Given the description of an element on the screen output the (x, y) to click on. 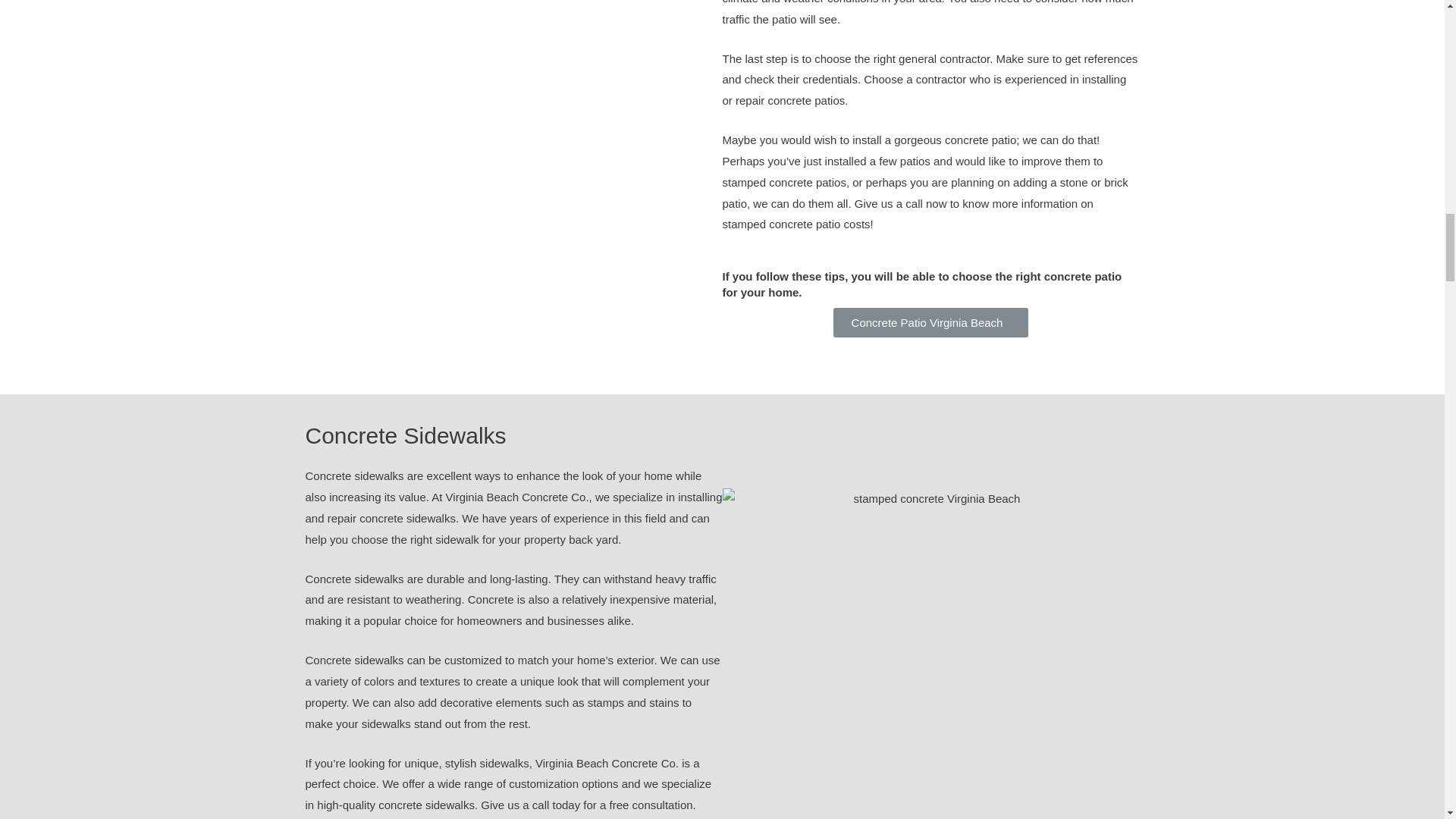
Concrete Patio Virginia Beach (930, 322)
